Given the description of an element on the screen output the (x, y) to click on. 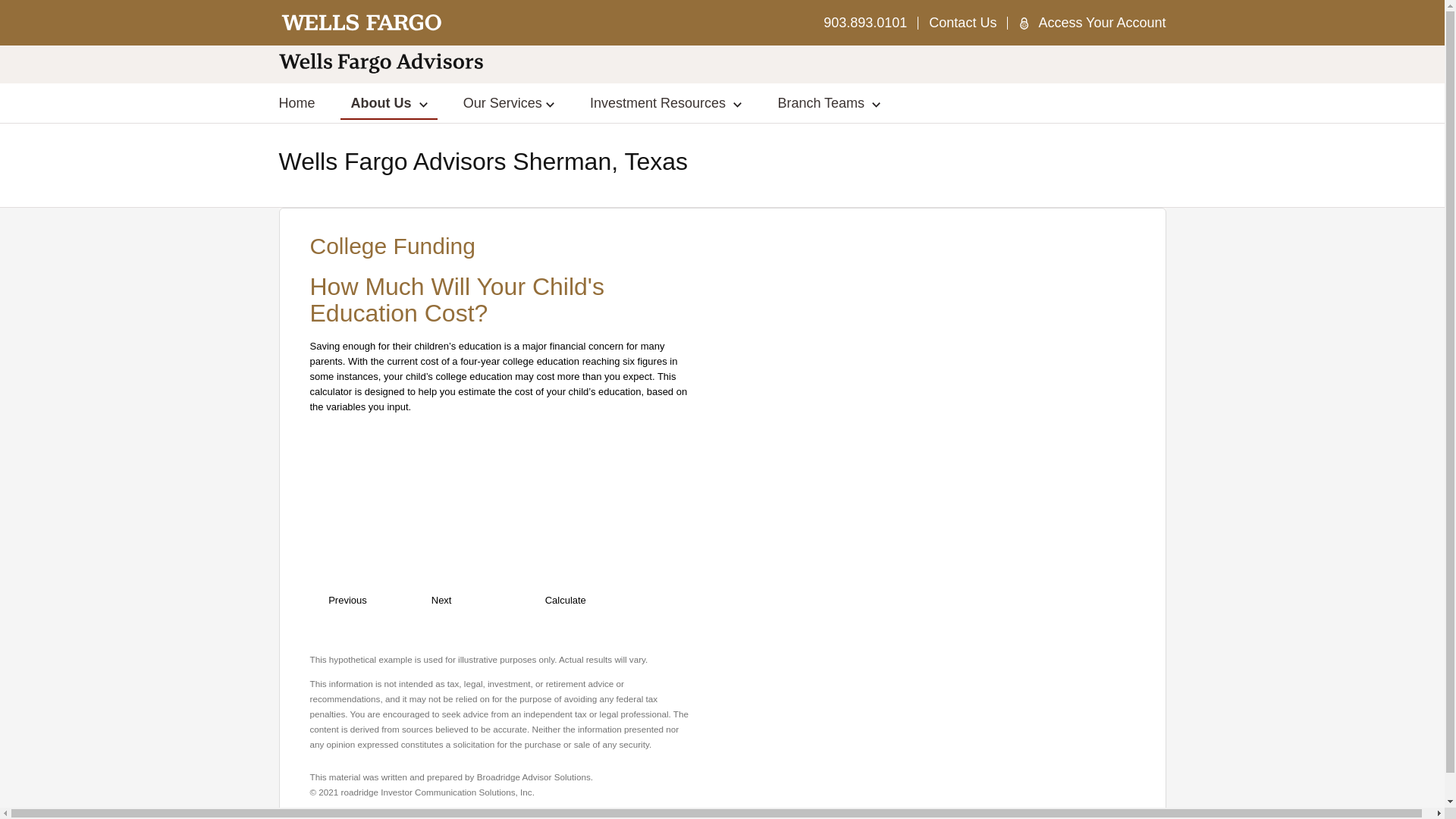
Investment Resources (665, 102)
Our Services (508, 102)
Branch Teams (829, 102)
Wells Fargo Advisors Home (362, 22)
Contact Us (961, 22)
Access Your Account (1102, 22)
903.893.0101 (865, 22)
Home (297, 102)
About Us (389, 102)
